Given the description of an element on the screen output the (x, y) to click on. 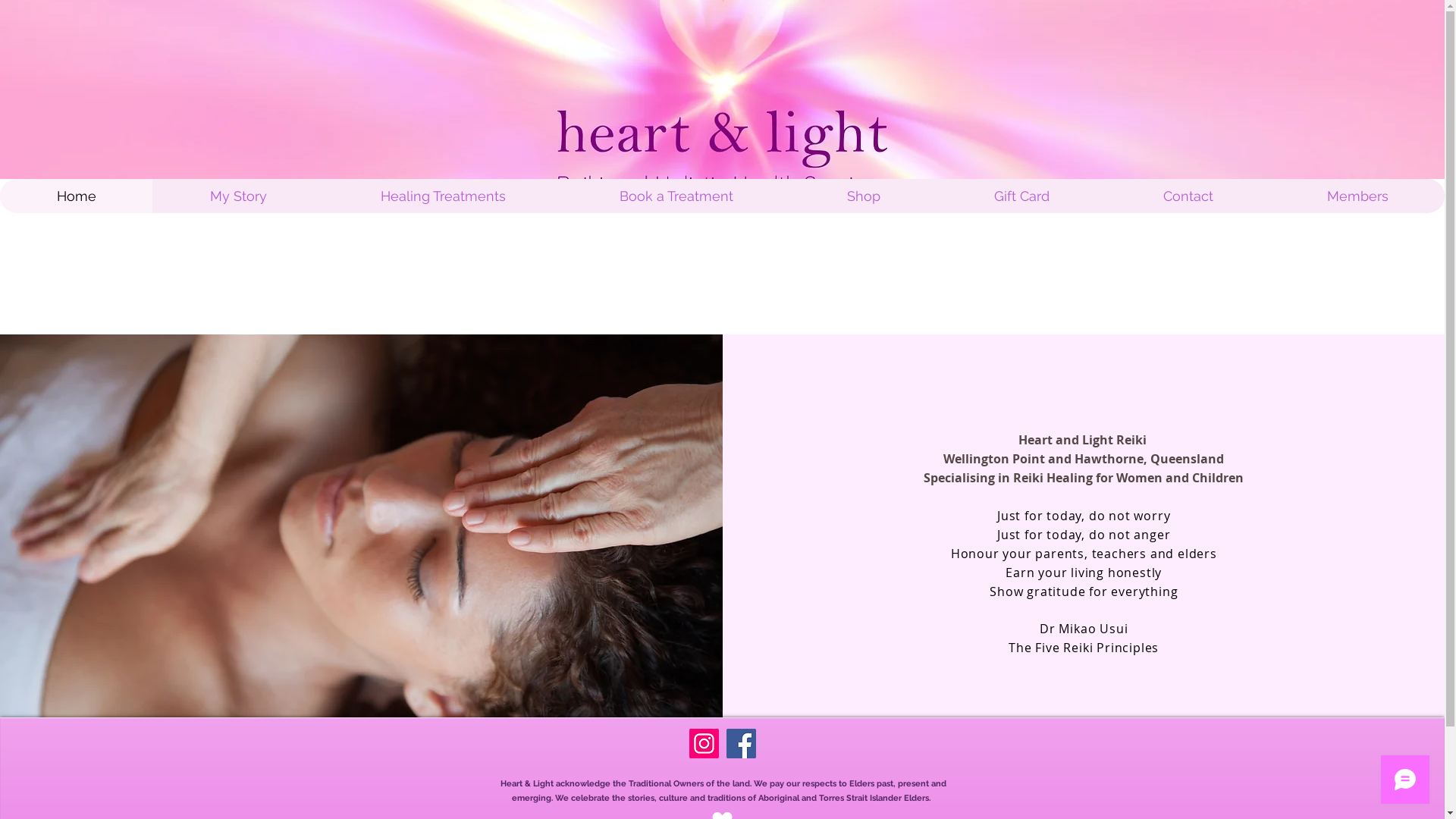
Members Element type: text (1356, 195)
Shop Element type: text (862, 195)
0 Element type: text (1080, 43)
Gift Card Element type: text (1020, 195)
Healing Treatments Element type: text (442, 195)
Home Element type: text (76, 195)
Book a Treatment Element type: text (675, 195)
My Story Element type: text (237, 195)
Log In Element type: text (1014, 43)
Contact Element type: text (1187, 195)
